Given the description of an element on the screen output the (x, y) to click on. 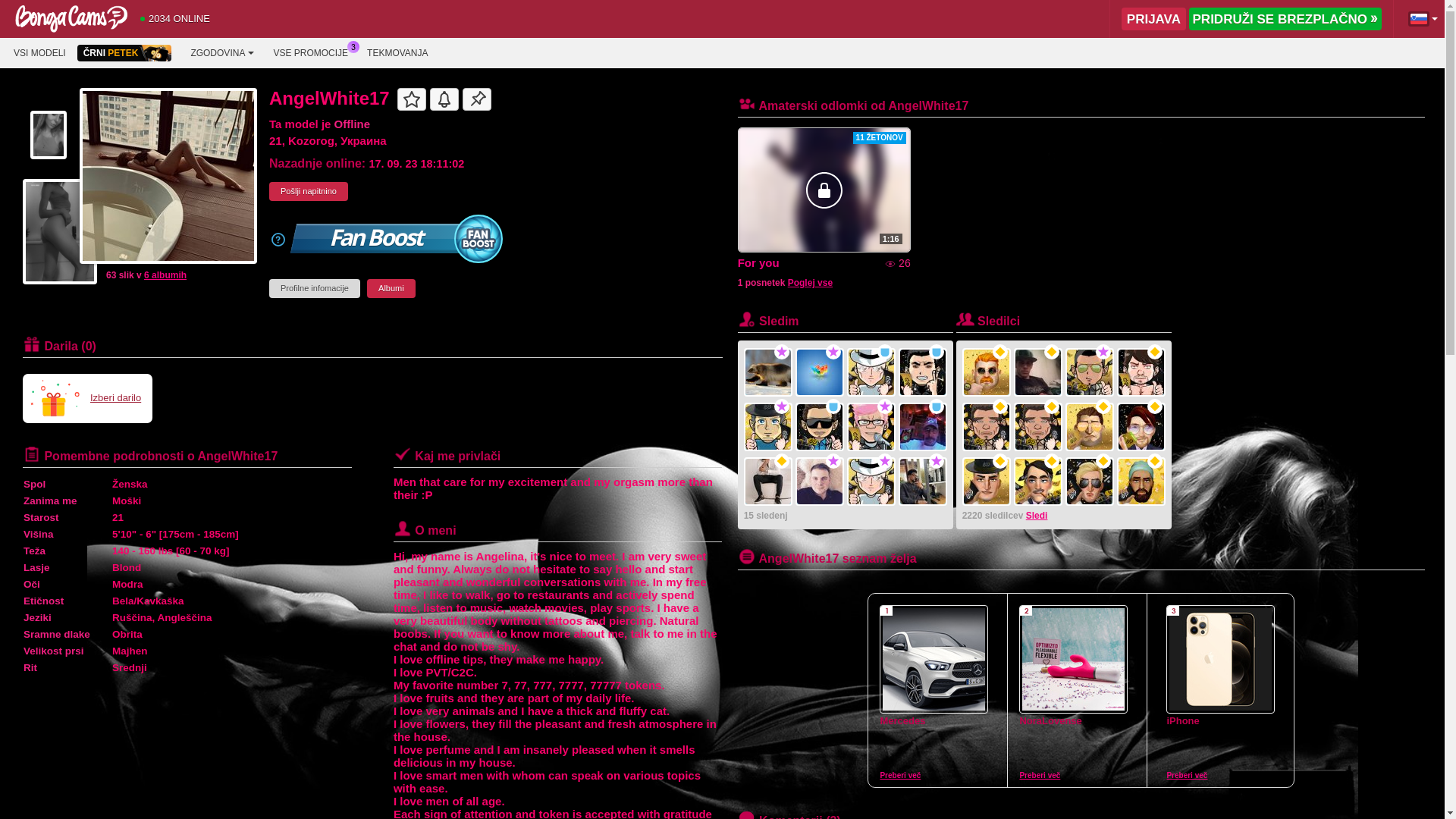
Filosovgod Element type: hover (922, 372)
Alexmaweriksnap Element type: hover (1141, 426)
Gold Element type: hover (1102, 460)
Cockdaddy69er Element type: hover (819, 426)
Platinum Element type: hover (936, 406)
ariarti Element type: hover (986, 372)
VSI MODELI Element type: text (39, 52)
Gold Element type: hover (1154, 406)
Platinum Element type: hover (832, 406)
Gold Element type: hover (1102, 406)
meido1 Element type: hover (819, 372)
Prokaznuk1 Element type: hover (1141, 372)
Profilne infomacije Element type: text (314, 288)
jeffrey228 Element type: hover (986, 481)
Gold Element type: hover (781, 460)
Albumi Element type: text (391, 288)
Izberi darilo Element type: text (87, 397)
Marijan175 Element type: hover (986, 426)
Unlimited Element type: hover (1102, 351)
Unlimited Element type: hover (832, 351)
Unlimited Element type: hover (884, 406)
Gold Element type: hover (1154, 351)
Pawel161616 Element type: hover (871, 481)
Gold Element type: hover (1051, 406)
TEKMOVANJA Element type: text (397, 52)
Gold Element type: hover (1051, 460)
Unlimited Element type: hover (781, 351)
Unlimited Element type: hover (781, 406)
Fan Boost Element type: text (396, 238)
Theterev Element type: hover (871, 372)
Platinum Element type: hover (884, 351)
Gold Element type: hover (1154, 460)
Gold Element type: hover (999, 460)
VSE PROMOCIJE Element type: text (310, 52)
I-won-a-fuck-you Element type: hover (1089, 426)
willy56 Element type: hover (871, 426)
kiskaloveser Element type: hover (767, 372)
Gold Element type: hover (999, 351)
Analotron3000 Element type: hover (819, 481)
PRIJAVA Element type: text (1153, 18)
Wdbw11 Element type: hover (1037, 481)
Unlimited Element type: hover (832, 460)
Unlimited Element type: hover (884, 460)
Pecka3752 Element type: hover (1037, 426)
Maks7975 Element type: hover (1089, 481)
Stason1061 Element type: hover (1141, 481)
Unlimited Element type: hover (936, 460)
Snsi7e7shhdhe Element type: hover (1037, 372)
marceloleck Element type: hover (922, 481)
goad12 Element type: hover (1089, 372)
Sledi Element type: text (1037, 515)
Gold Element type: hover (1051, 351)
fiendes Element type: hover (767, 426)
-YourBoy- Element type: hover (767, 481)
Gold Element type: hover (999, 406)
Platinum Element type: hover (936, 351)
Sledjammer Element type: hover (922, 426)
